Given the description of an element on the screen output the (x, y) to click on. 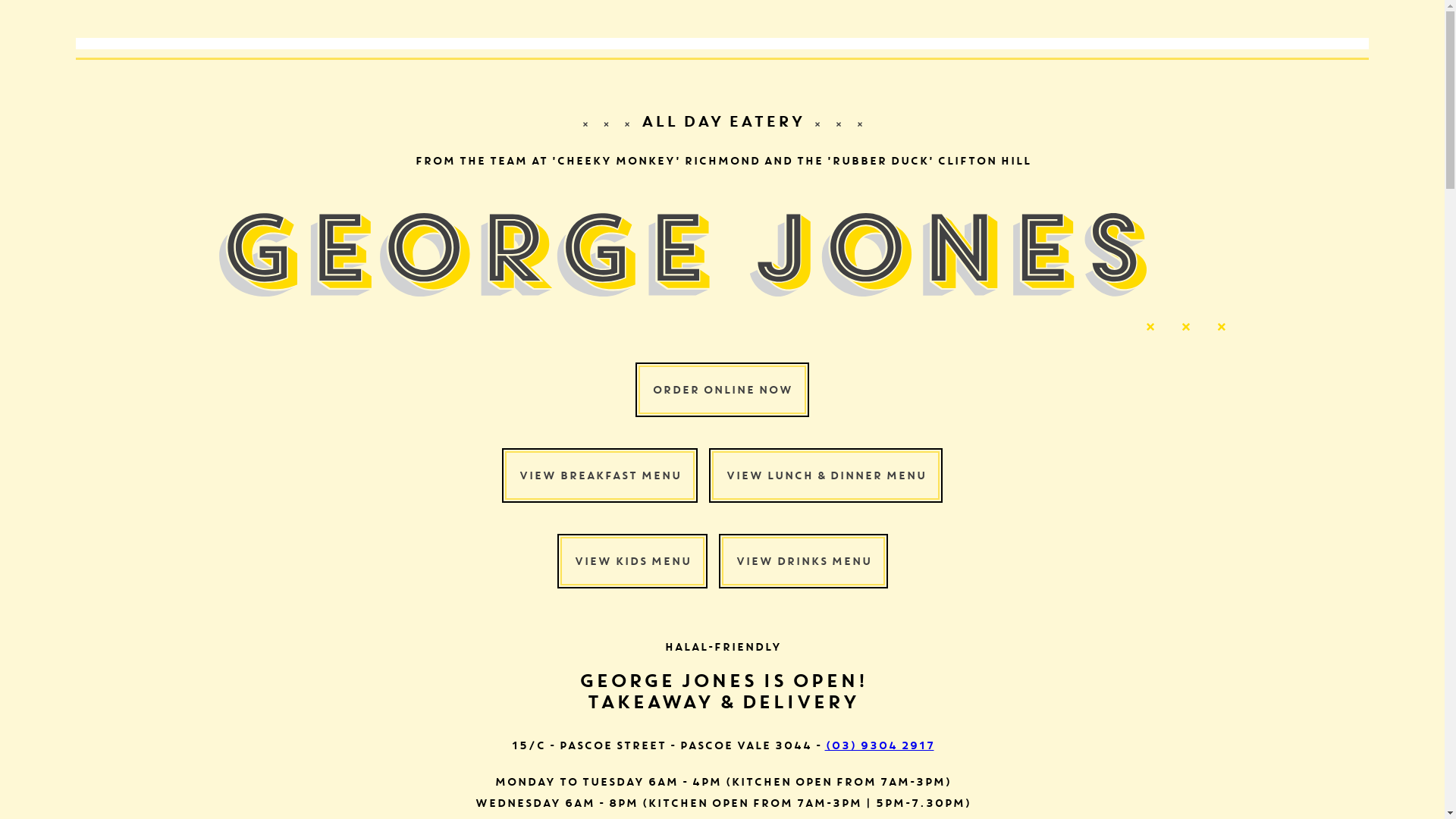
VIEW LUNCH & DINNER MENU Element type: text (825, 475)
(03) 9304 2917 Element type: text (879, 745)
VIEW BREAKFAST MENU Element type: text (599, 475)
VIEW KIDS MENU Element type: text (631, 560)
VIEW DRINKS MENU Element type: text (803, 560)
ORDER ONLINE NOW Element type: text (722, 389)
